Given the description of an element on the screen output the (x, y) to click on. 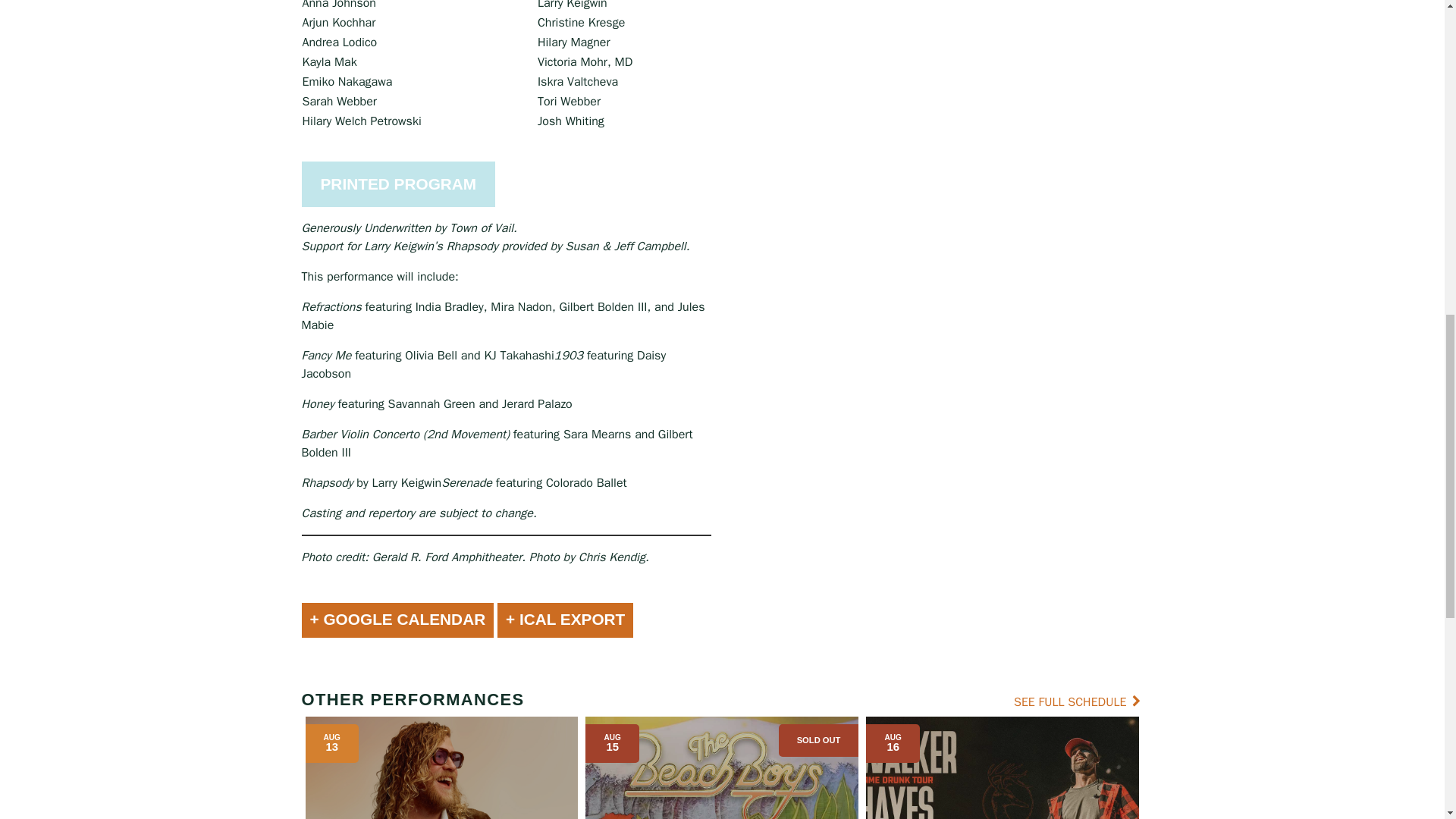
Search (721, 248)
Download .ics file (565, 620)
SIGNATURE EVENTS (614, 354)
VAIL DANCE FESTIVAL (614, 483)
DONATE (565, 607)
RENT THE AMPHITHEATER (817, 607)
Add to Google Calendar (398, 620)
HOT SUMMER NIGHTS (614, 441)
BRAVO! VAIL (614, 504)
FAQ'S (829, 459)
